Given the description of an element on the screen output the (x, y) to click on. 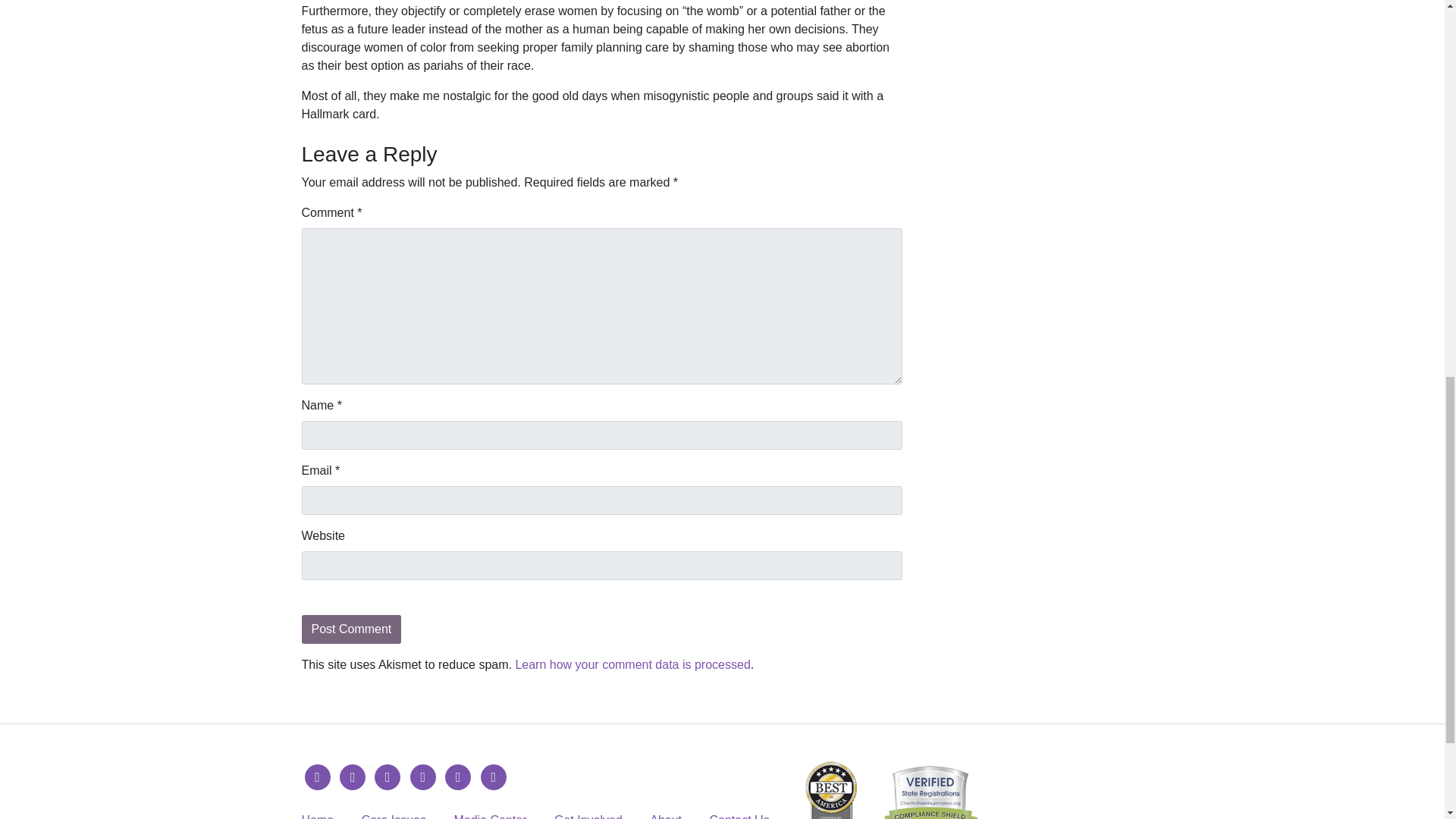
Core Issues (393, 816)
Home (317, 816)
youtube (422, 775)
flickr (457, 775)
Learn how your comment data is processed (632, 664)
Post Comment (351, 629)
spotify (493, 775)
facebook (317, 775)
Post Comment (351, 629)
x (352, 775)
instagram (387, 775)
Media Center (488, 816)
